Given the description of an element on the screen output the (x, y) to click on. 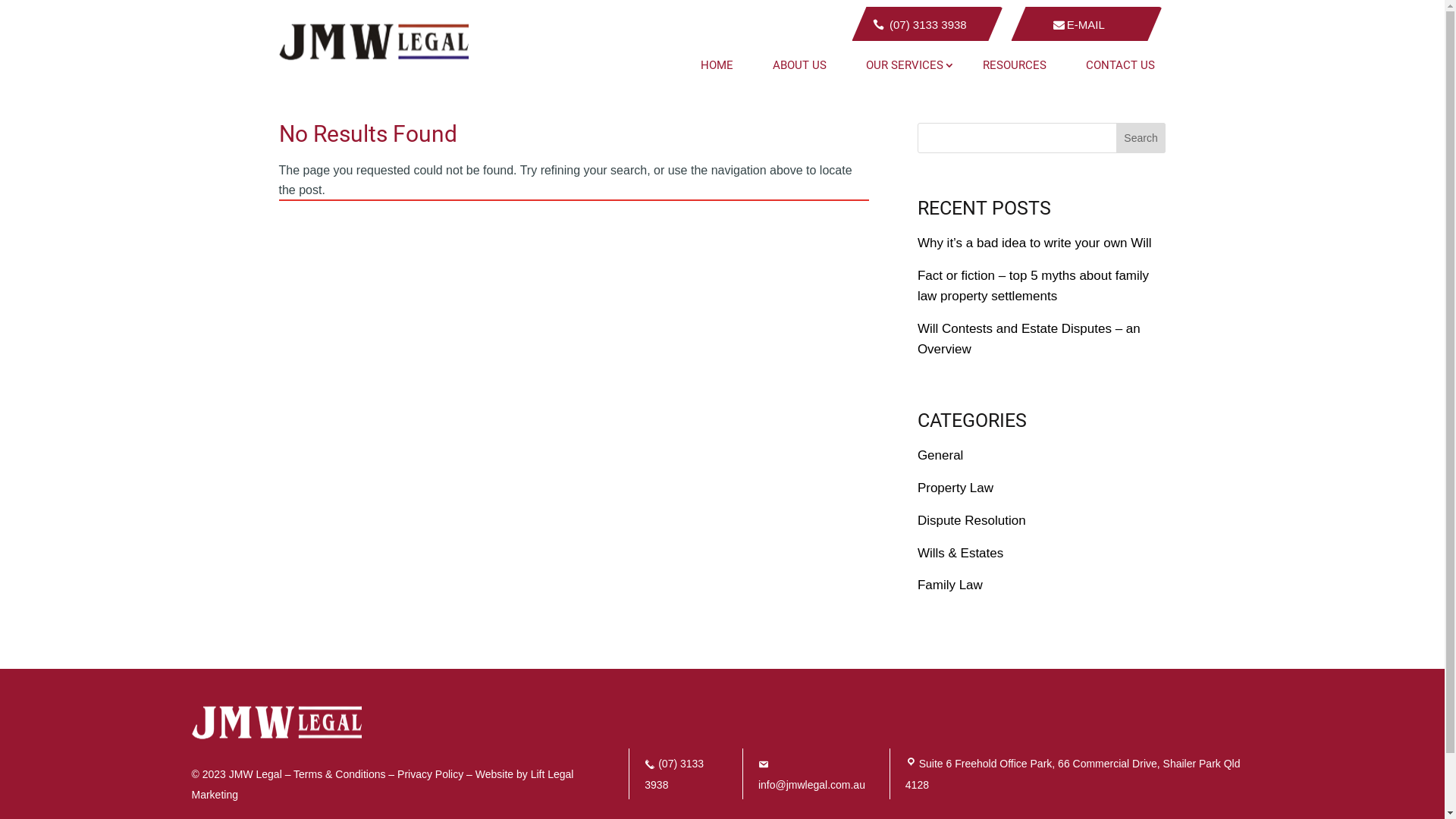
Search Element type: text (1141, 137)
OUR SERVICES Element type: text (903, 64)
RESOURCES Element type: text (1013, 64)
CONTACT US Element type: text (1119, 64)
Dispute Resolution Element type: text (971, 520)
ABOUT US Element type: text (799, 64)
(07) 3133 3938 Element type: text (685, 773)
Privacy Policy Element type: text (431, 774)
info@jmwlegal.com.au Element type: text (811, 773)
Property Law Element type: text (955, 487)
HOME Element type: text (715, 64)
Lift Legal Marketing Element type: text (382, 784)
Family Law Element type: text (949, 584)
(07) 3133 3938 Element type: text (926, 24)
Jmw Legal1 2 Element type: hover (275, 723)
Wills & Estates Element type: text (960, 553)
E-MAIL Element type: text (1085, 24)
General Element type: text (940, 455)
